Given the description of an element on the screen output the (x, y) to click on. 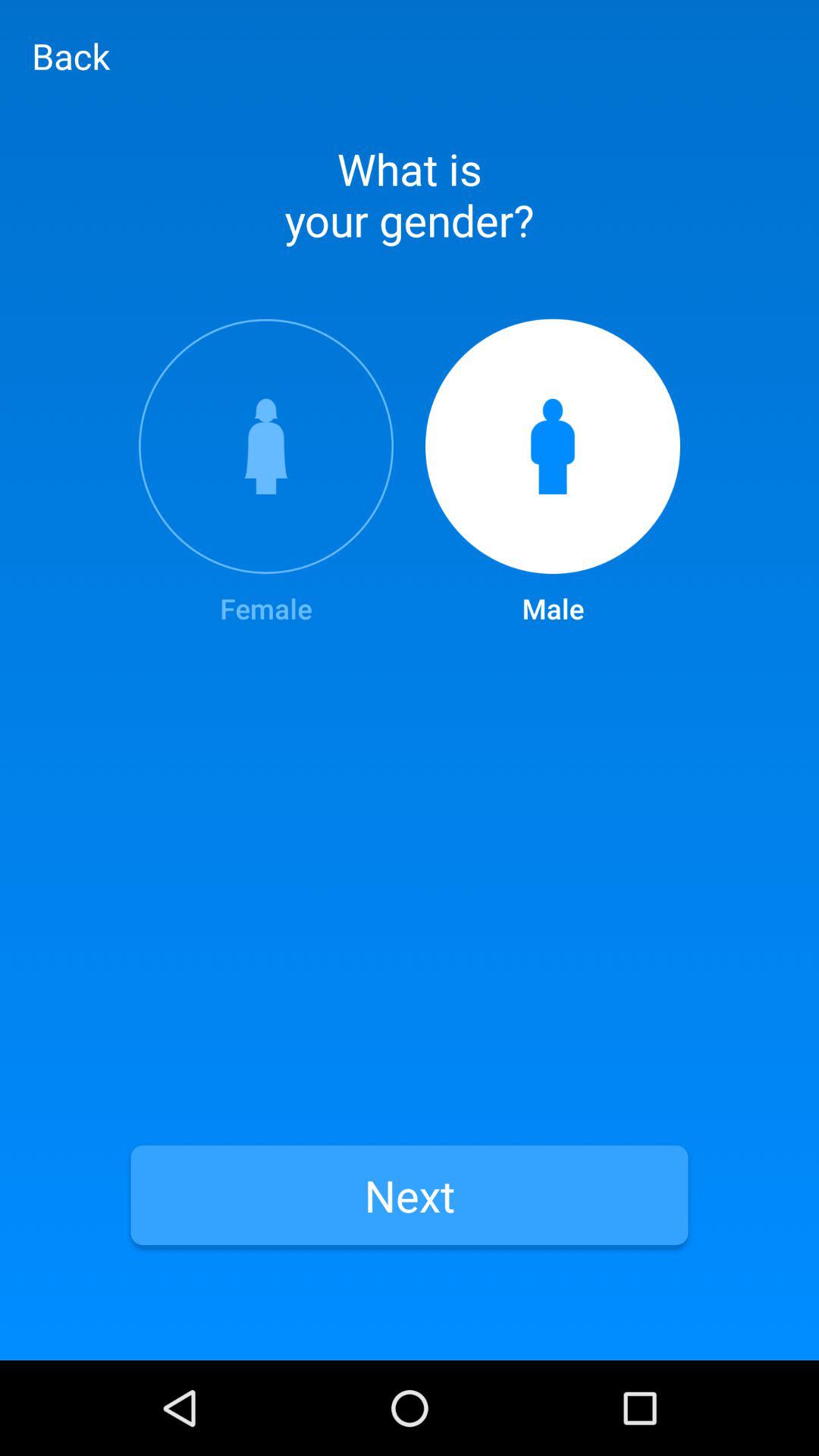
select the item at the top right corner (552, 473)
